Given the description of an element on the screen output the (x, y) to click on. 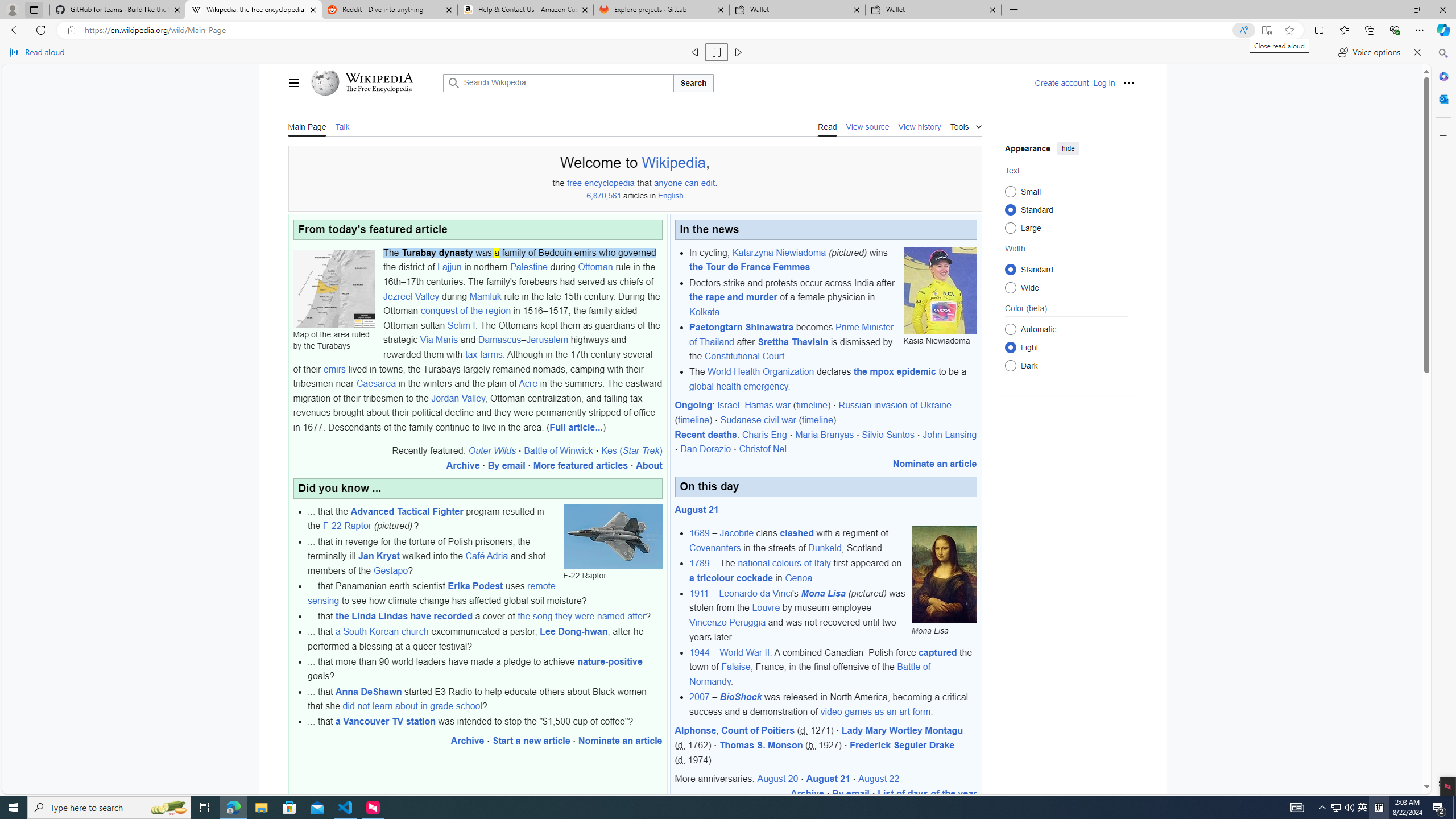
Nominate an article (934, 463)
Paetongtarn Shinawatra (740, 326)
Battle of Winwick (558, 450)
Acre (528, 383)
August 21 (828, 778)
2007 (699, 697)
Advanced Tactical Fighter (406, 511)
Talk (341, 125)
Log in (1104, 82)
Kes (Star Trek) (631, 450)
Jan Kryst (379, 556)
